Given the description of an element on the screen output the (x, y) to click on. 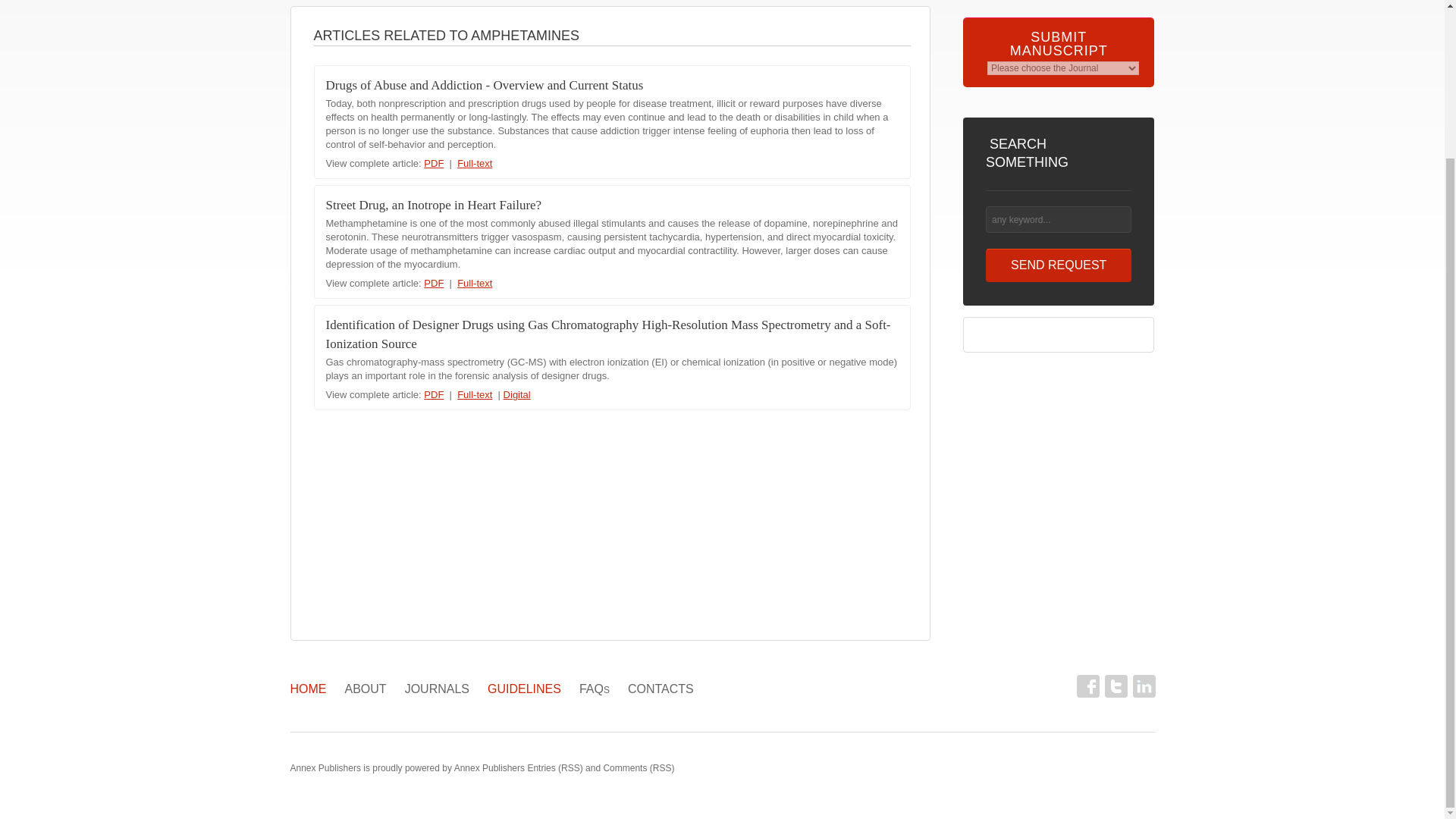
Send Request (1058, 264)
